Given the description of an element on the screen output the (x, y) to click on. 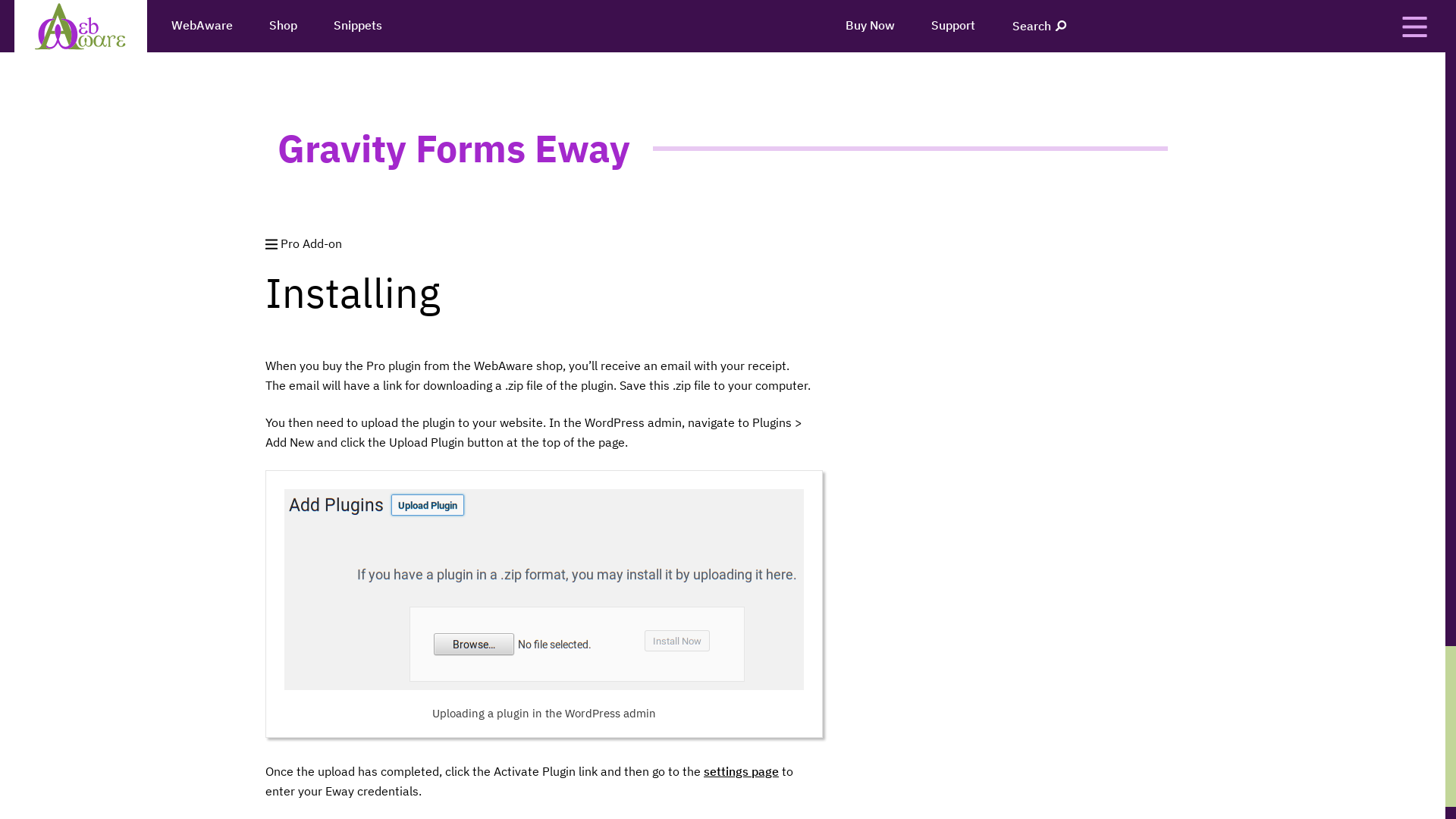
settings page Element type: text (740, 770)
Buy Now Element type: text (870, 25)
Support Element type: text (953, 25)
Search Element type: text (1039, 26)
Snippets Element type: text (357, 25)
WebAware Element type: text (202, 25)
Shop Element type: text (283, 25)
